Given the description of an element on the screen output the (x, y) to click on. 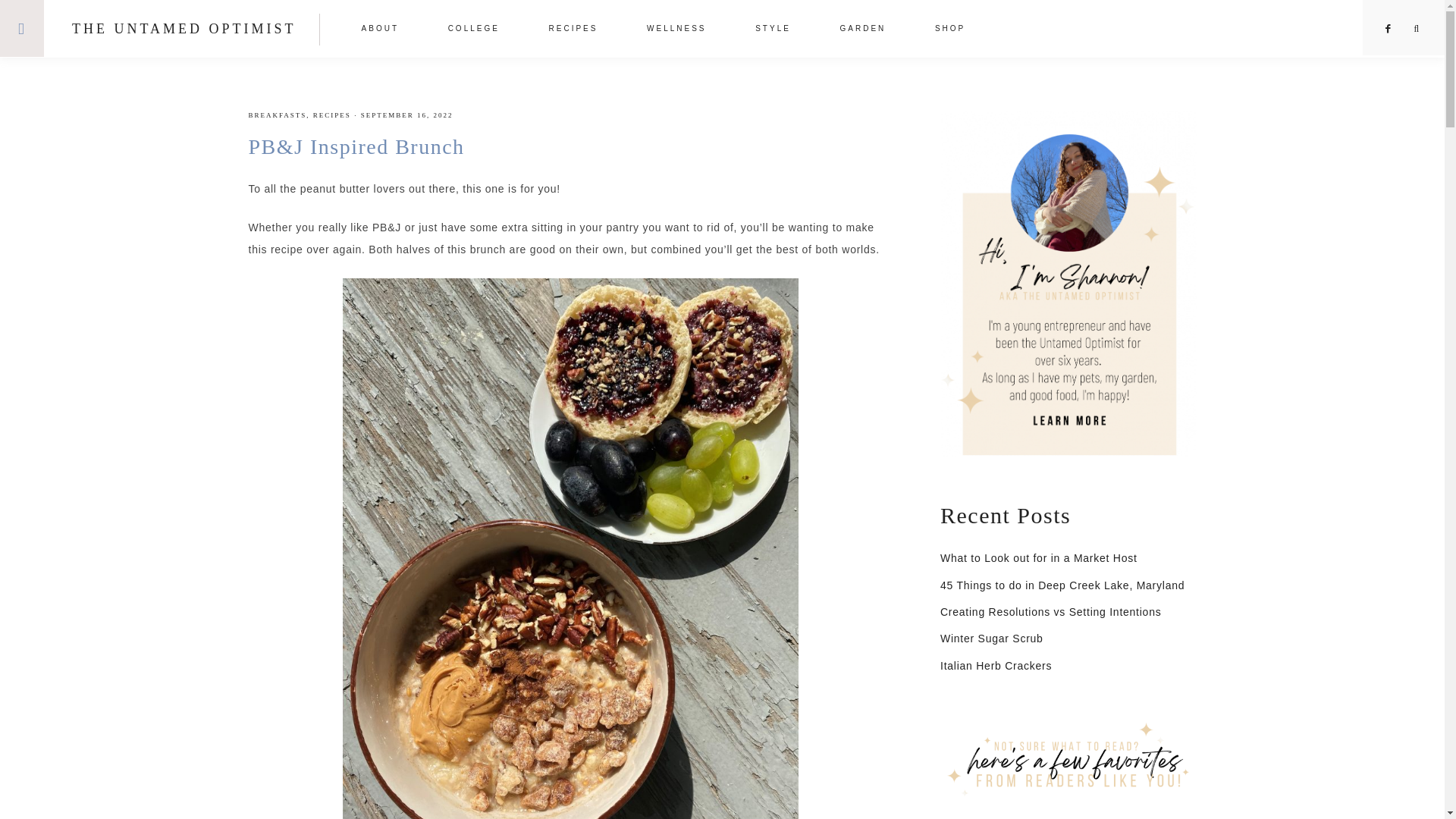
GARDEN (862, 29)
THE UNTAMED OPTIMIST (184, 28)
BREAKFASTS (277, 114)
ABOUT (380, 29)
SHOP (950, 29)
Facebook (1388, 29)
COLLEGE (473, 29)
Pinterest (1389, 29)
WELLNESS (676, 29)
RECIPES (573, 29)
STYLE (772, 29)
